Given the description of an element on the screen output the (x, y) to click on. 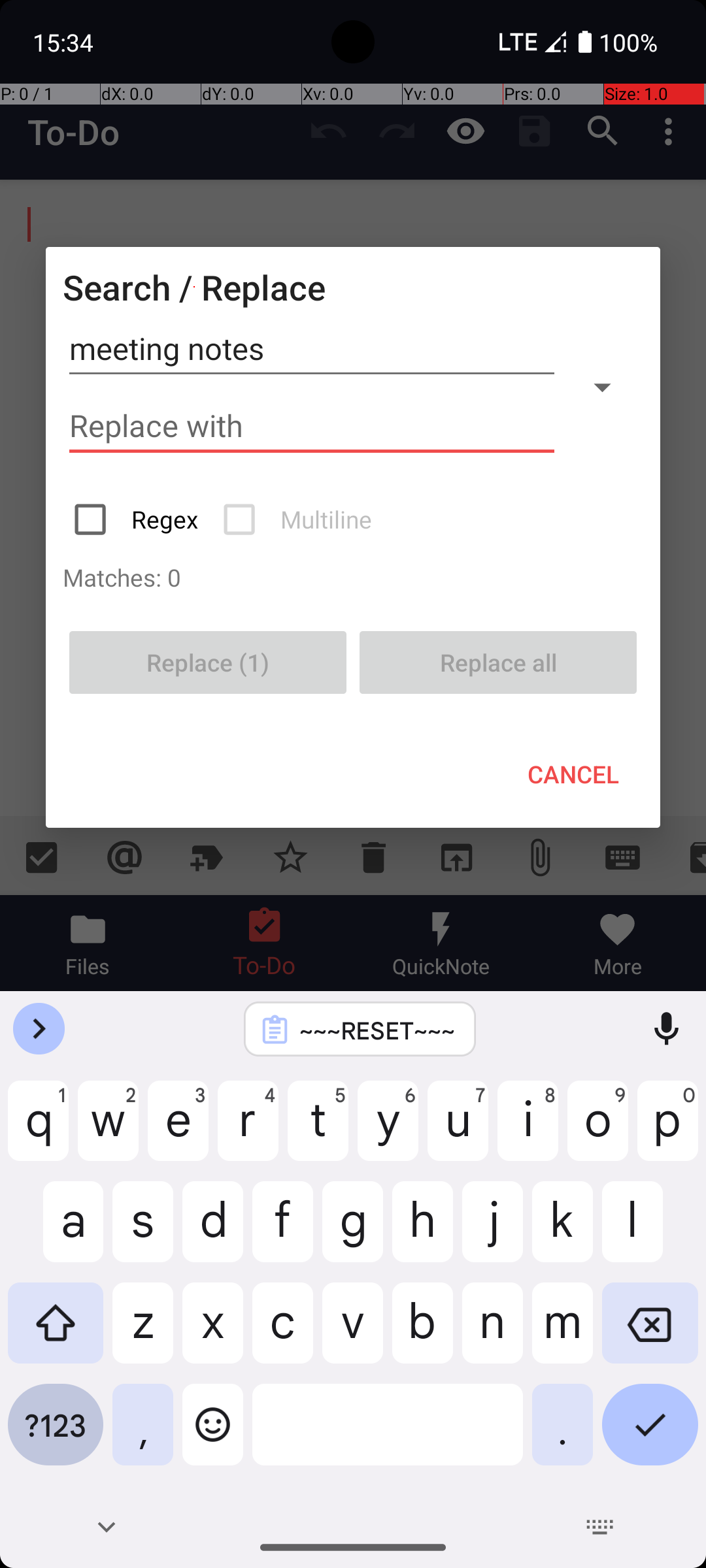
Search / Replace Element type: android.widget.TextView (193, 286)
meeting notes Element type: android.widget.EditText (311, 348)
Replace with Element type: android.widget.EditText (311, 425)
Regex Element type: android.widget.CheckBox (136, 518)
Multiline Element type: android.widget.CheckBox (298, 518)
Matches: 0 Element type: android.widget.TextView (352, 576)
Replace (1) Element type: android.widget.Button (207, 662)
Replace all Element type: android.widget.Button (498, 662)
